Given the description of an element on the screen output the (x, y) to click on. 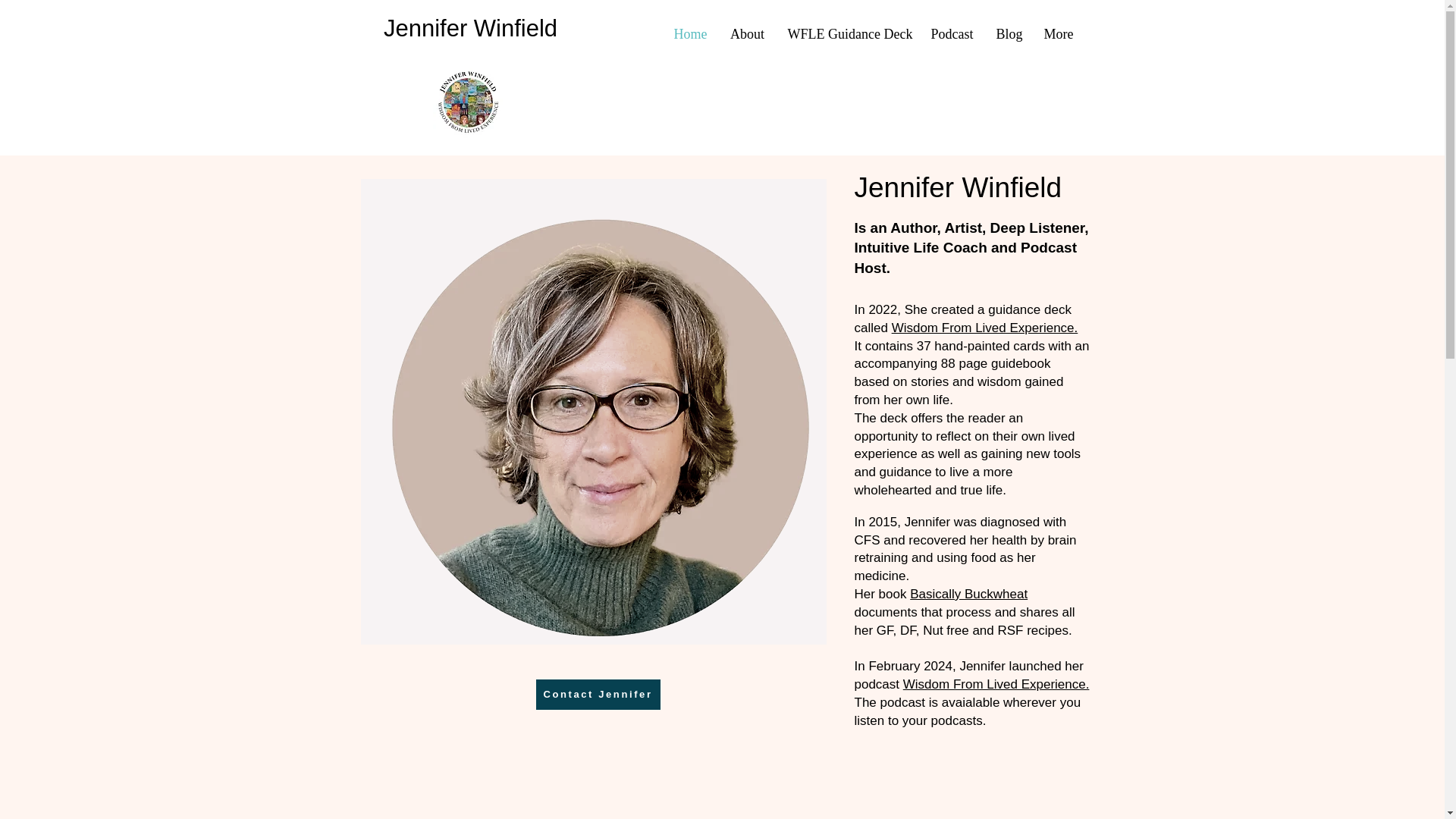
Basically Buckwheat (968, 594)
About (747, 34)
WFLE Guidance Deck (848, 34)
Jennifer Winfield (470, 28)
Home (690, 34)
Blog (1008, 34)
Wisdom From Lived Experience. (995, 684)
Podcast (951, 34)
